Given the description of an element on the screen output the (x, y) to click on. 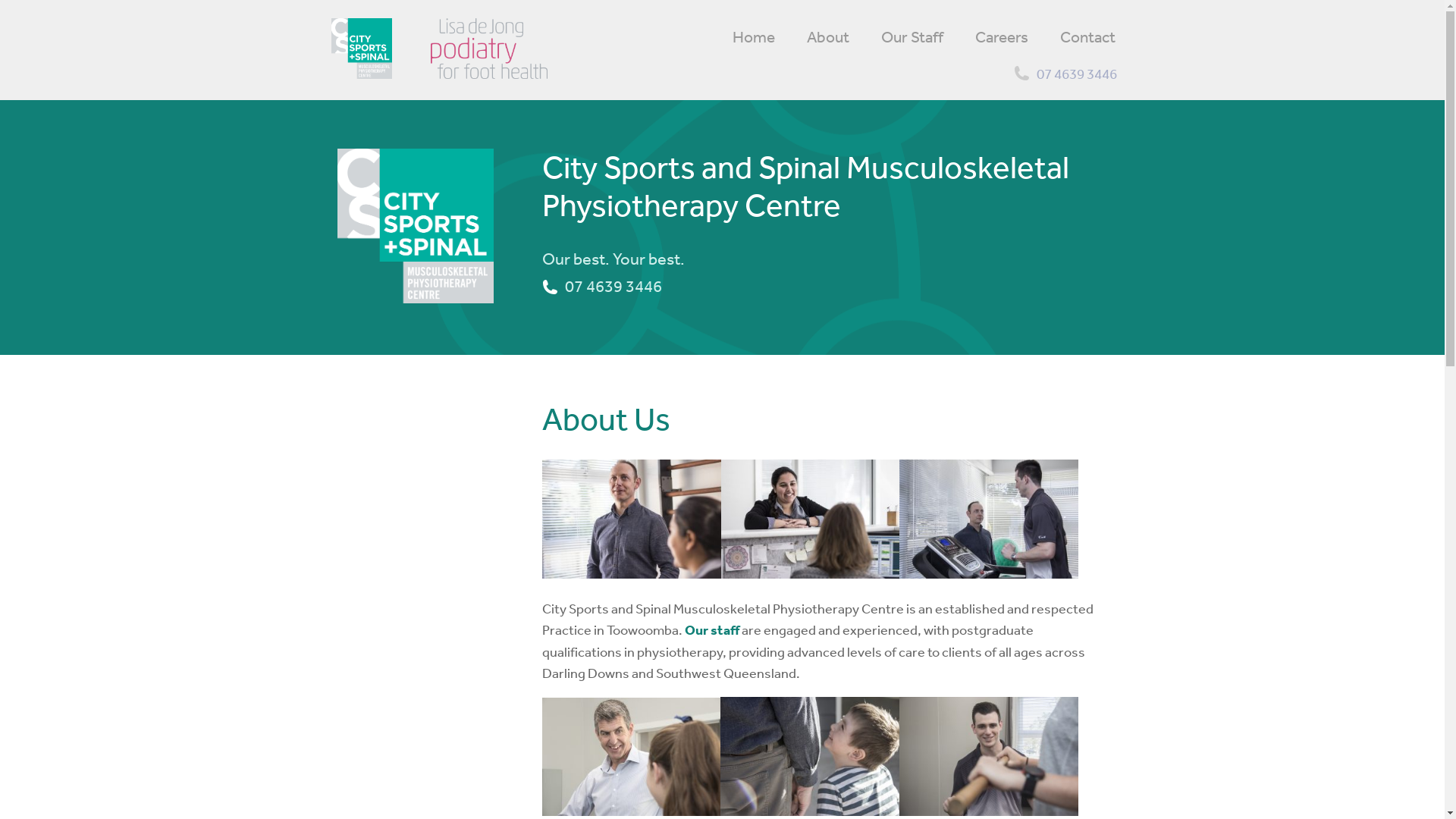
Careers Element type: text (1001, 32)
Home Element type: text (752, 32)
About Element type: text (827, 32)
Contact Element type: text (1087, 32)
Our staff Element type: text (711, 629)
Our Staff Element type: text (912, 32)
